Given the description of an element on the screen output the (x, y) to click on. 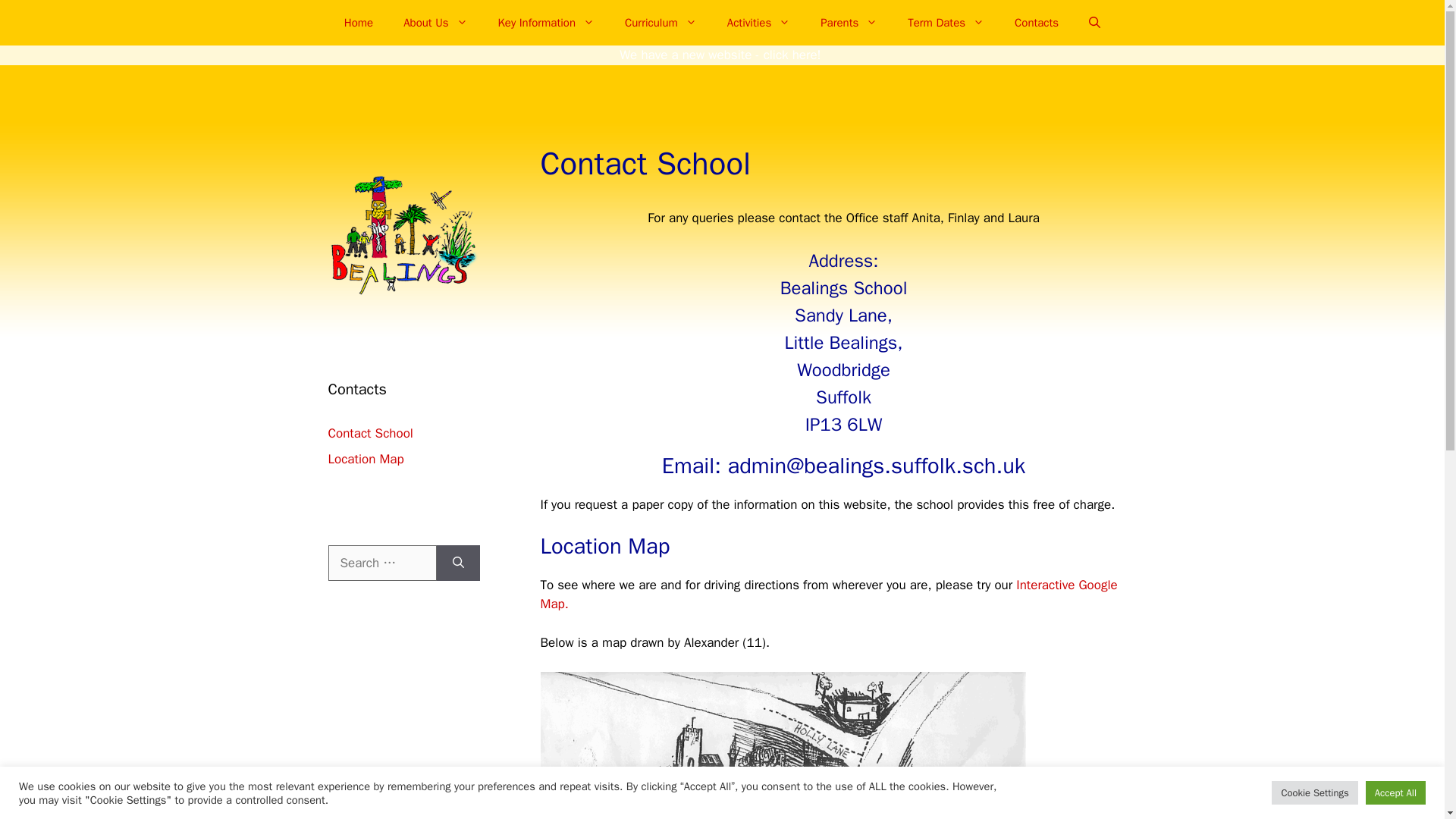
Search for: (381, 563)
Contact School (369, 433)
About Us (434, 22)
Location Map (365, 458)
Key Information (546, 22)
Curriculum (660, 22)
Home (358, 22)
